Given the description of an element on the screen output the (x, y) to click on. 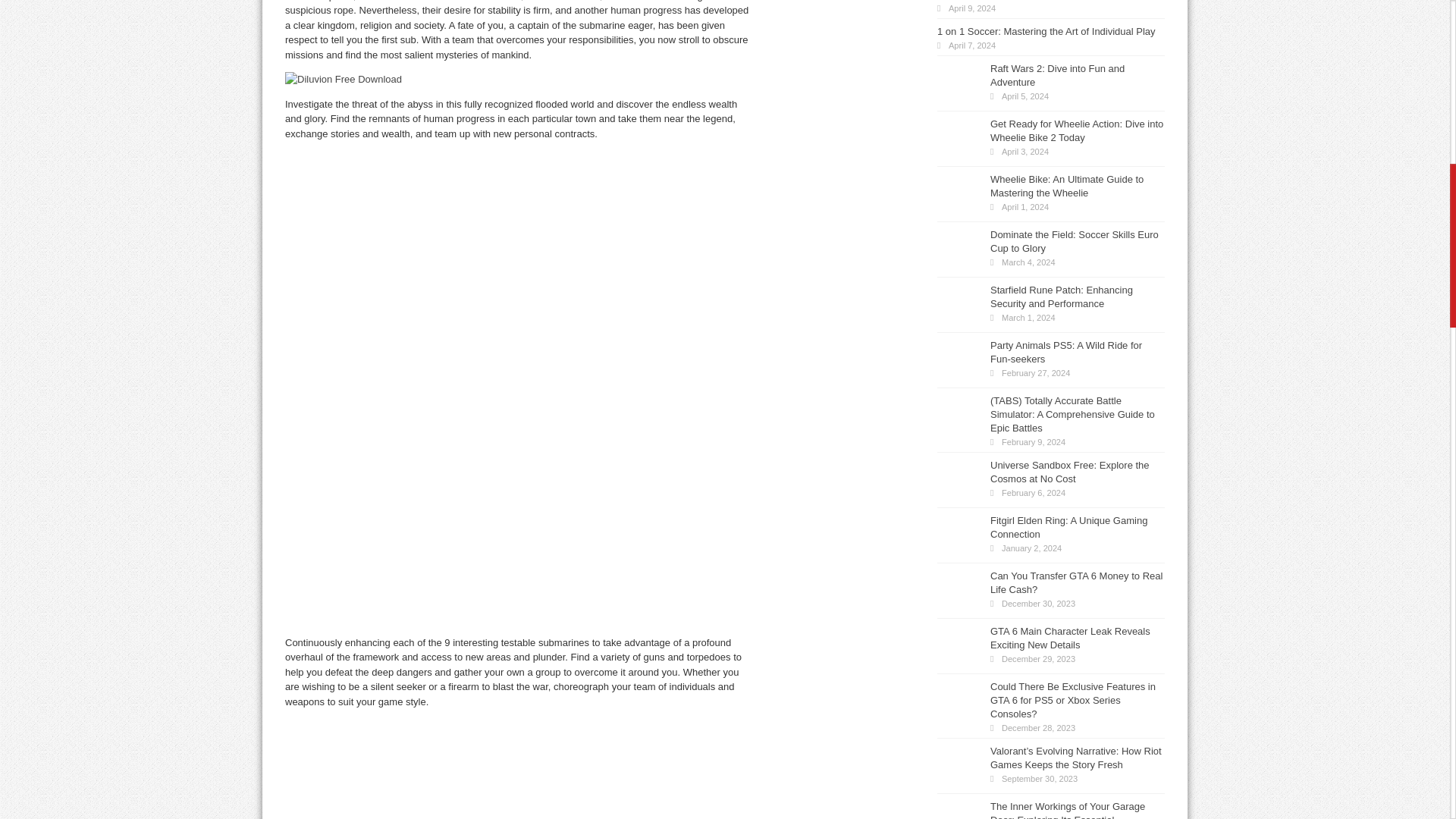
Diluvion Free Download (343, 79)
Diluvion Free Download (520, 769)
